Given the description of an element on the screen output the (x, y) to click on. 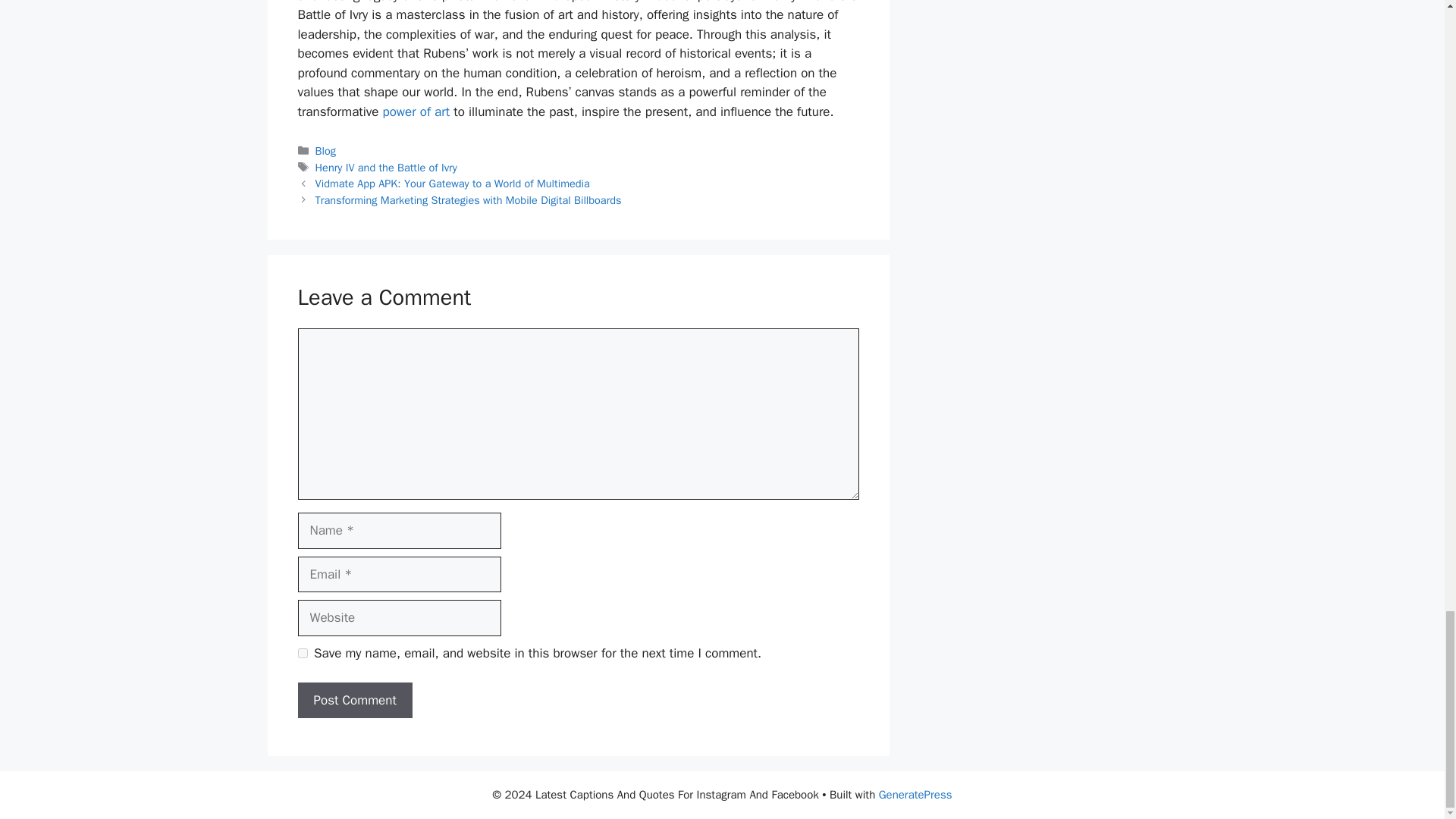
power of art (415, 111)
Blog (325, 151)
Post Comment (354, 700)
Post Comment (354, 700)
Vidmate App APK: Your Gateway to a World of Multimedia (452, 183)
Henry IV and the Battle of Ivry (386, 167)
yes (302, 653)
